Given the description of an element on the screen output the (x, y) to click on. 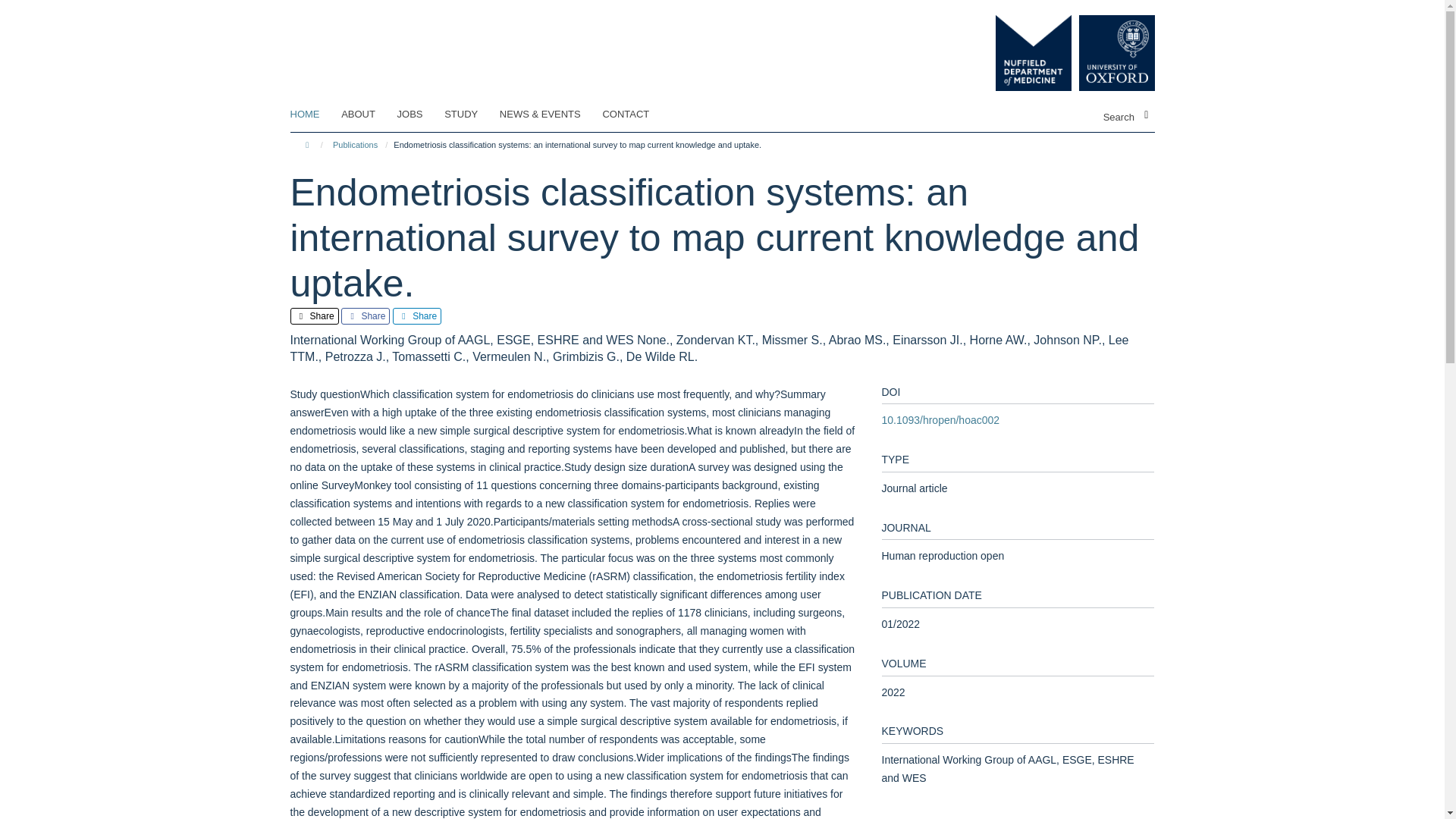
CONTACT (635, 114)
STUDY (470, 114)
HOME (313, 114)
Share (365, 315)
Publications (355, 144)
NDM University of Oxford (1063, 52)
Share (313, 315)
ABOUT (367, 114)
JOBS (419, 114)
Share (417, 315)
